Given the description of an element on the screen output the (x, y) to click on. 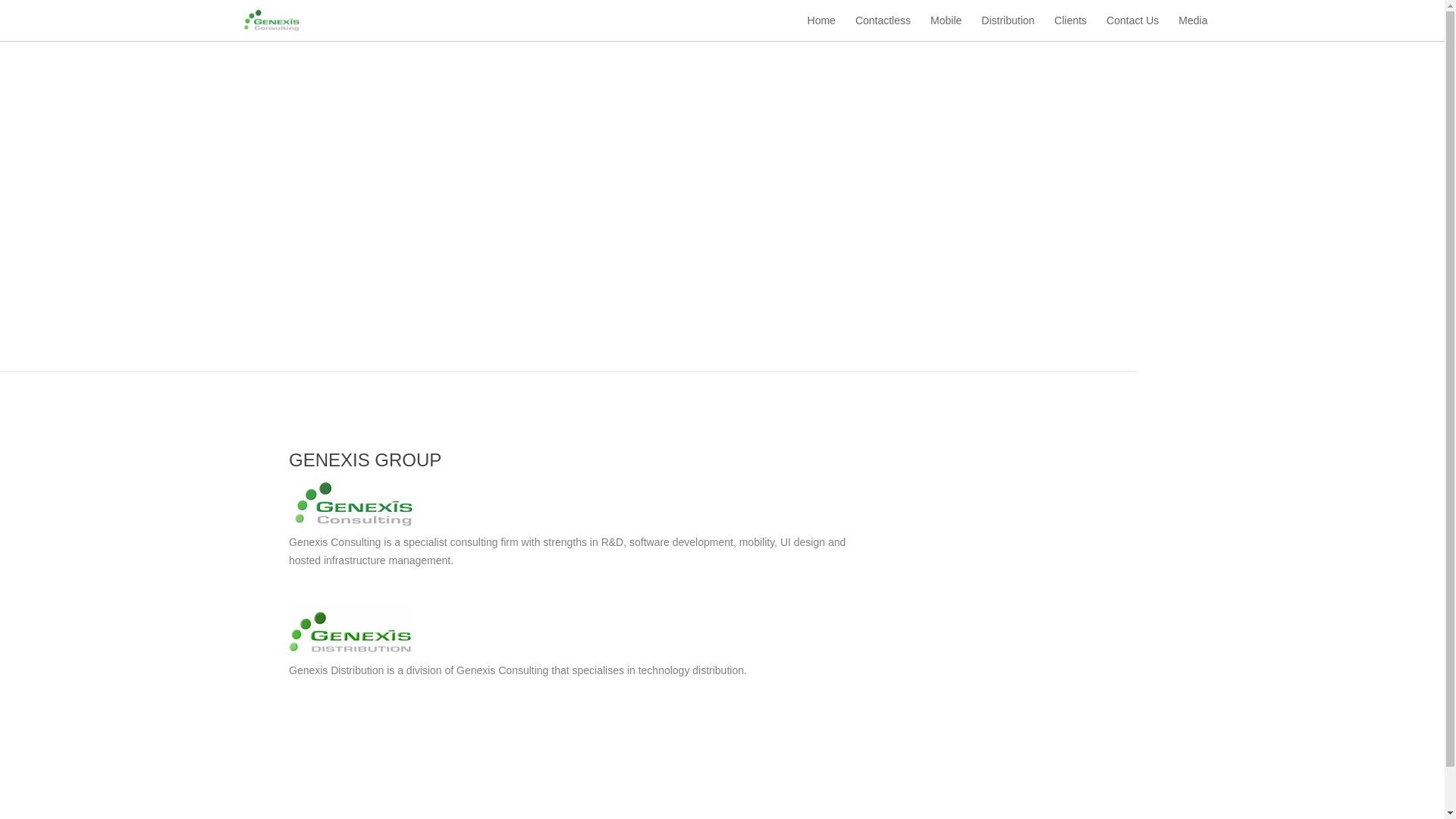
Media Element type: text (1192, 27)
Mobile Element type: text (945, 27)
Distribution Element type: text (1007, 27)
Home Element type: text (821, 27)
Contactless Element type: text (882, 27)
Clients Element type: text (1070, 27)
Contact Us Element type: text (1132, 27)
